Given the description of an element on the screen output the (x, y) to click on. 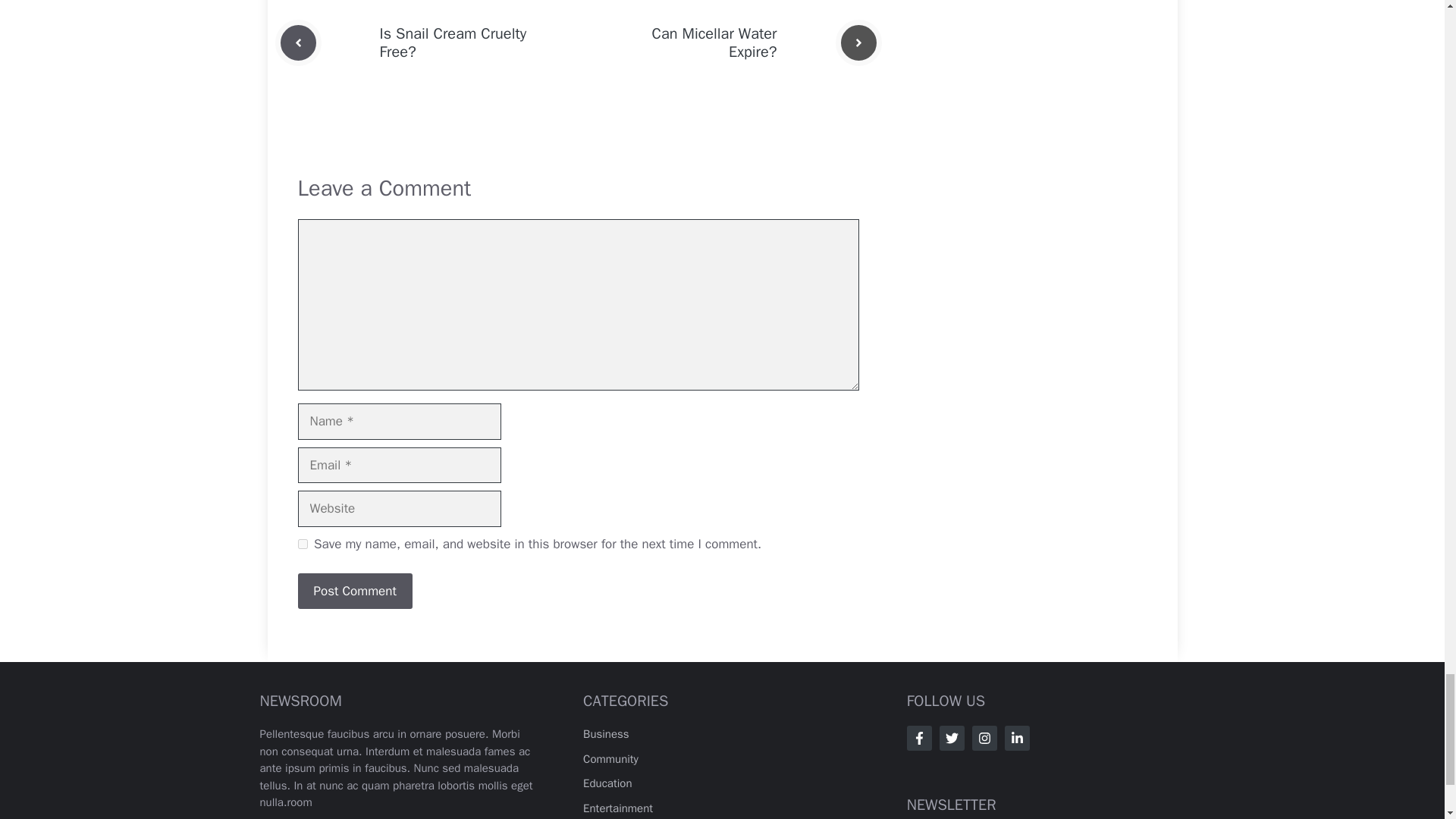
yes (302, 543)
Post Comment (354, 591)
